Given the description of an element on the screen output the (x, y) to click on. 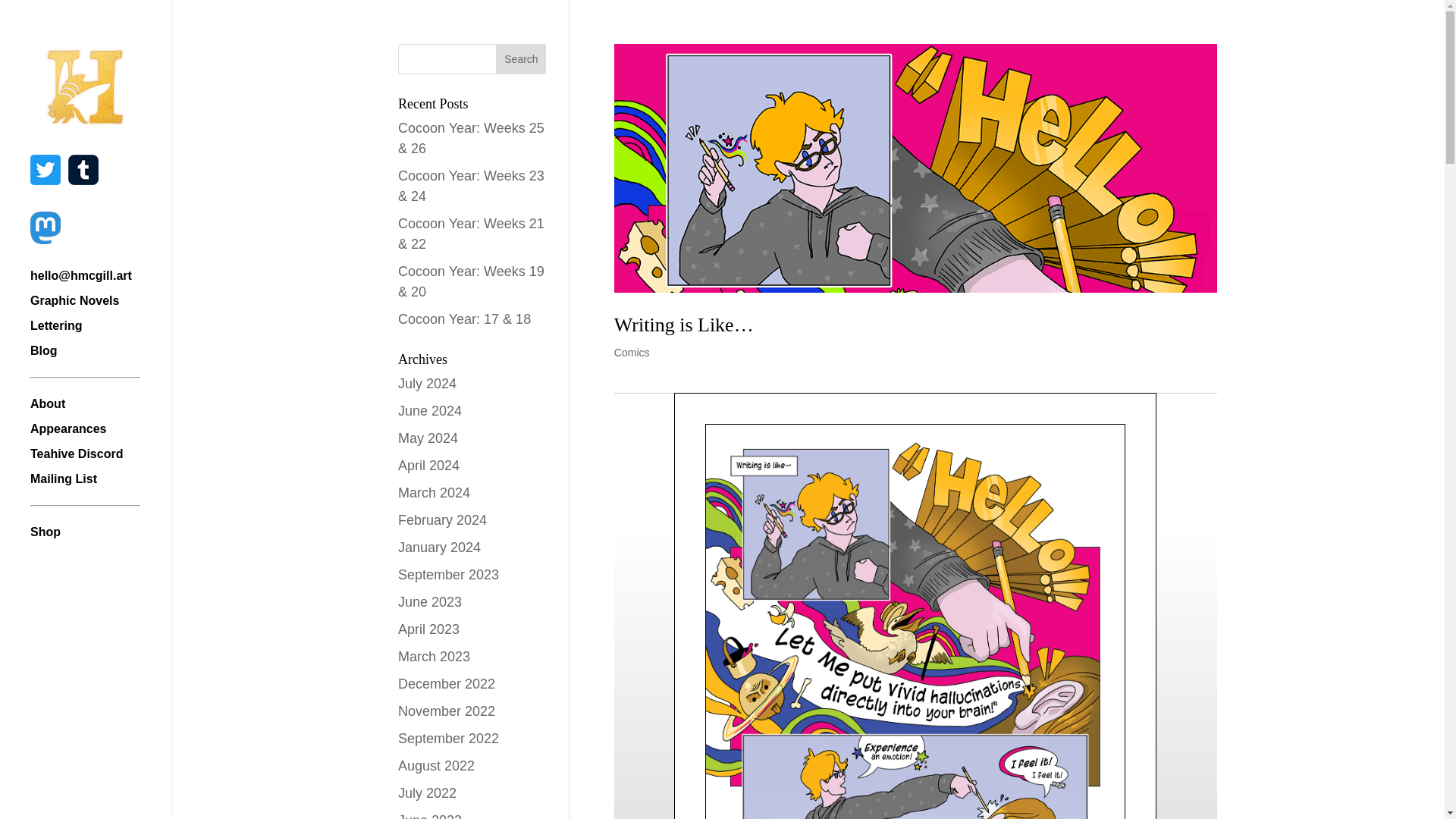
Search (521, 59)
Mailing List (100, 486)
Lettering (100, 333)
Comics (631, 352)
About (100, 411)
Teahive Discord (100, 461)
Blog (100, 358)
Graphic Novels (100, 308)
Appearances (100, 436)
Shop (100, 539)
